Given the description of an element on the screen output the (x, y) to click on. 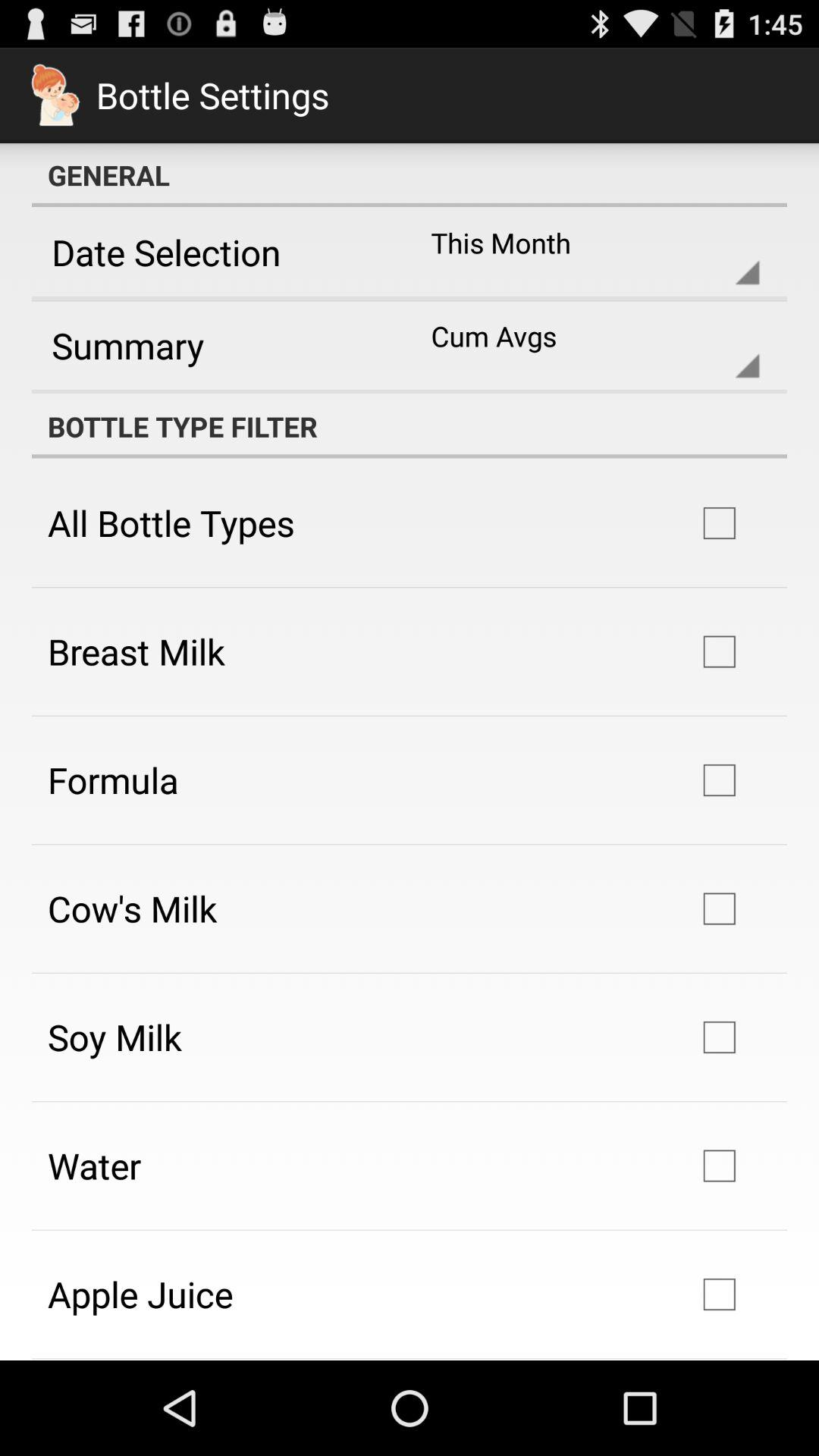
launch the apple juice (140, 1294)
